Given the description of an element on the screen output the (x, y) to click on. 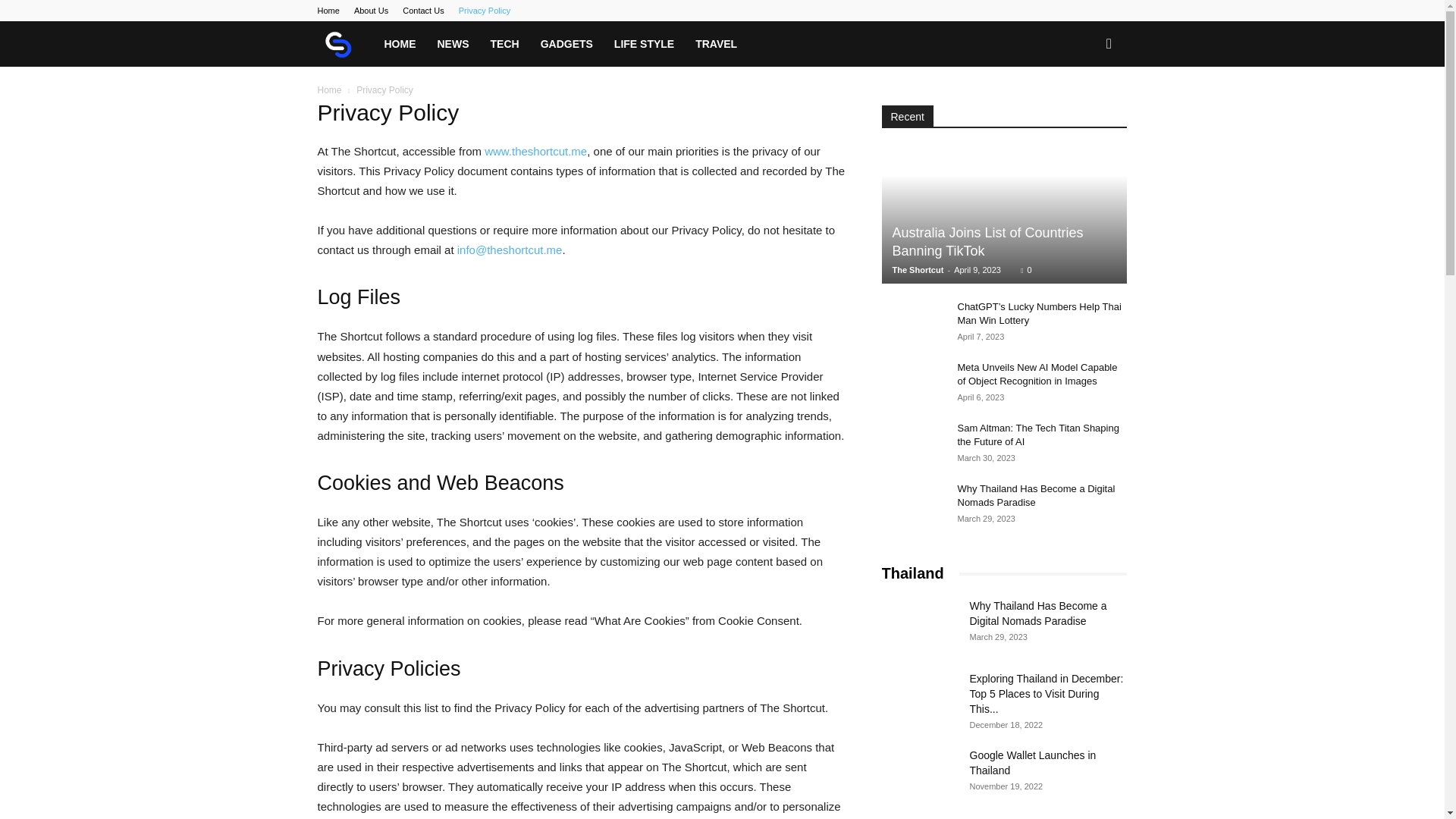
Australia Joins List of Countries Banning TikTok (987, 241)
The Shortcut (917, 269)
Search (1085, 109)
The Shortcut (344, 44)
www.theshortcut.me (535, 151)
Contact Us (423, 10)
Australia Joins List of Countries Banning TikTok (1003, 215)
Australia Joins List of Countries Banning TikTok (987, 241)
Home (328, 10)
LIFE STYLE (644, 43)
